Given the description of an element on the screen output the (x, y) to click on. 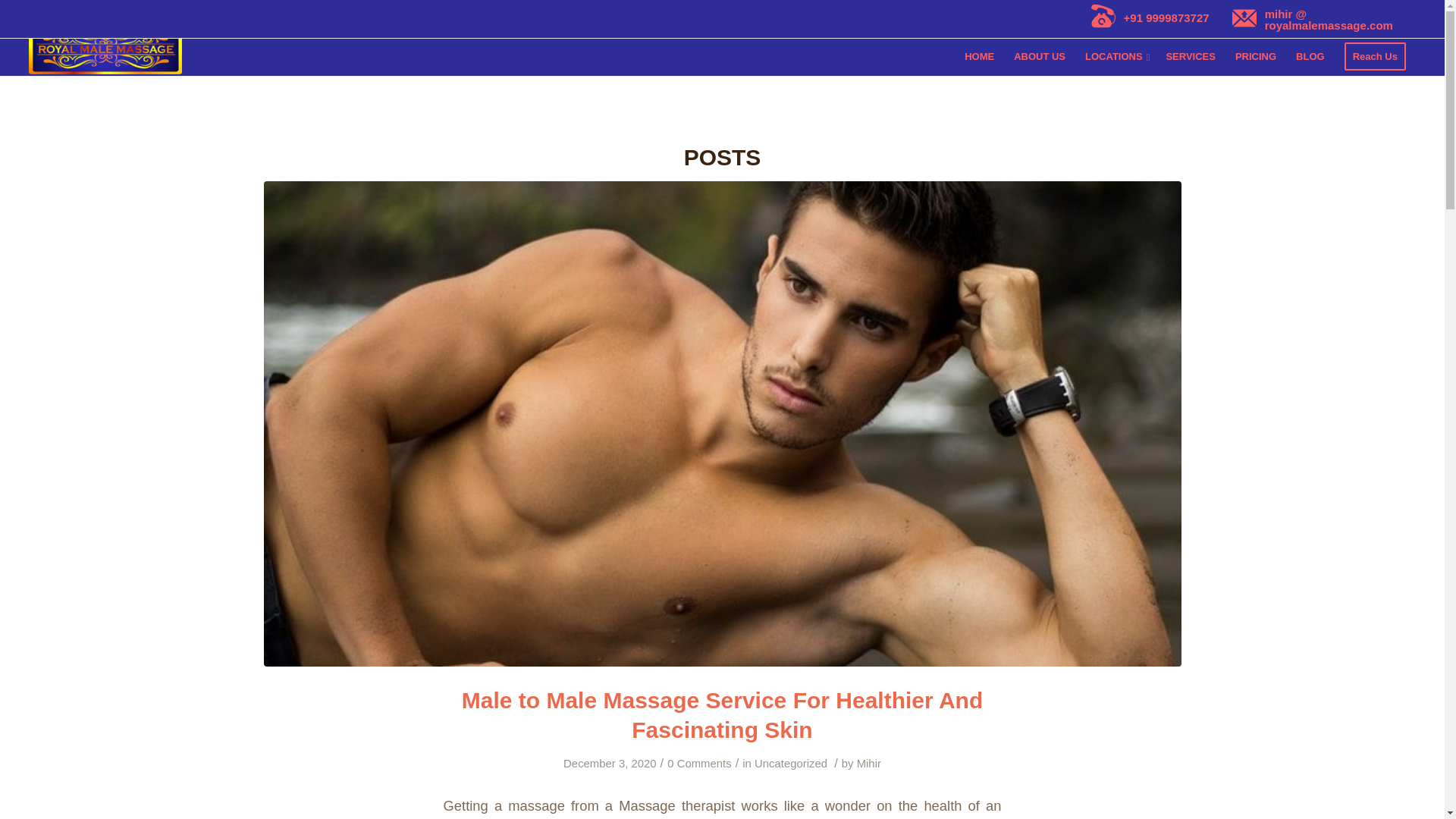
Reach Us (1375, 56)
Uncategorized (790, 763)
0 Comments (698, 763)
PRICING (1255, 56)
Mihir (868, 763)
ABOUT US (1039, 56)
LOCATIONS (1115, 56)
SERVICES (1190, 56)
